Given the description of an element on the screen output the (x, y) to click on. 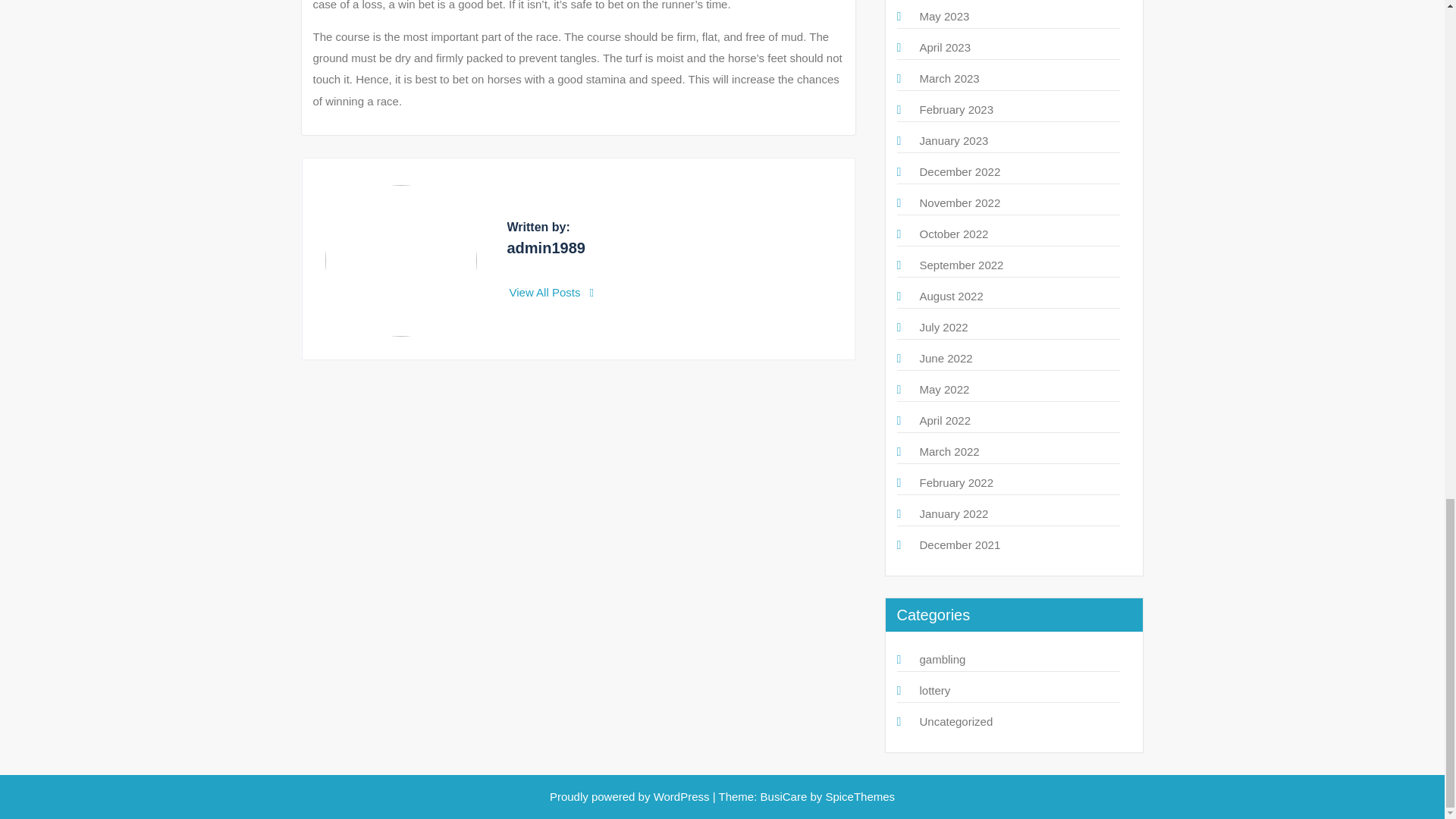
View All Posts (551, 291)
December 2022 (959, 171)
February 2023 (955, 109)
October 2022 (953, 233)
November 2022 (959, 202)
April 2023 (944, 47)
March 2023 (948, 78)
January 2023 (953, 140)
May 2023 (943, 15)
